Given the description of an element on the screen output the (x, y) to click on. 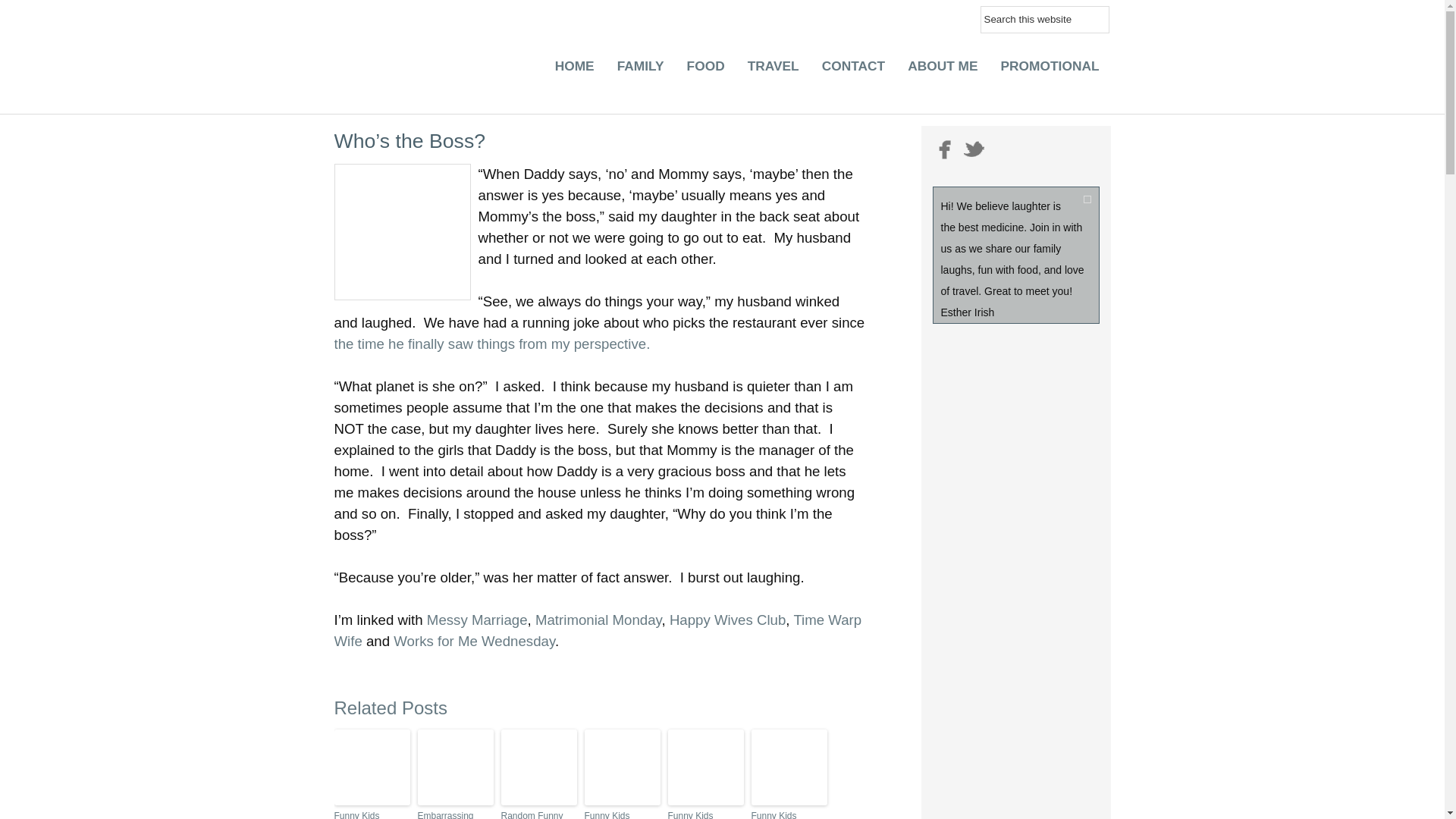
Laugh With Us Blog (389, 56)
ABOUT ME (942, 69)
TRAVEL (773, 69)
HOME (574, 69)
FOOD (705, 69)
Messy Marriage (476, 619)
CONTACT (853, 69)
